Given the description of an element on the screen output the (x, y) to click on. 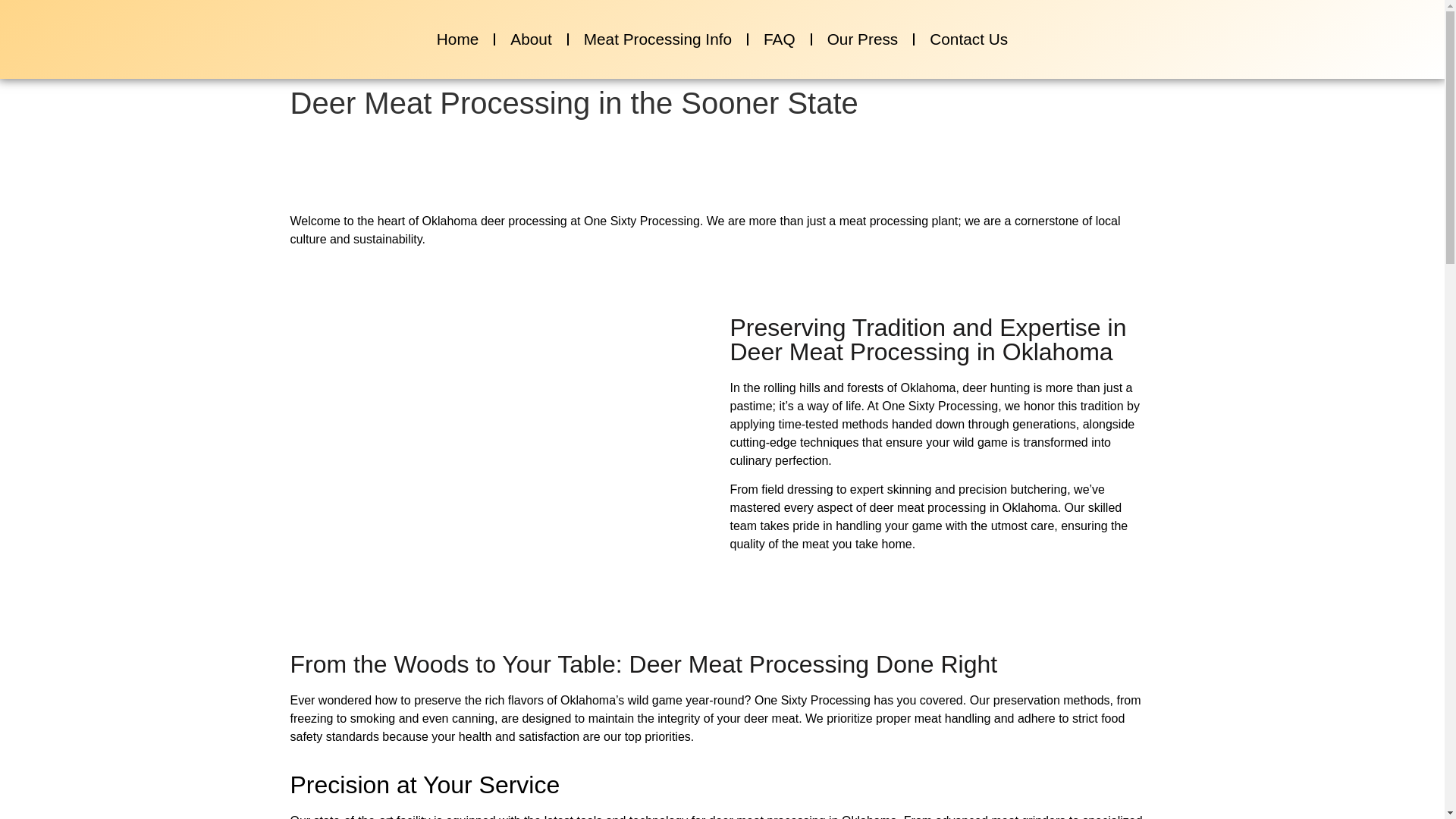
Contact Us (968, 39)
FAQ (779, 39)
Meat Processing Info (657, 39)
Our Press (863, 39)
one sixty logo with no text copy (36, 30)
About (530, 39)
Home (457, 39)
